Given the description of an element on the screen output the (x, y) to click on. 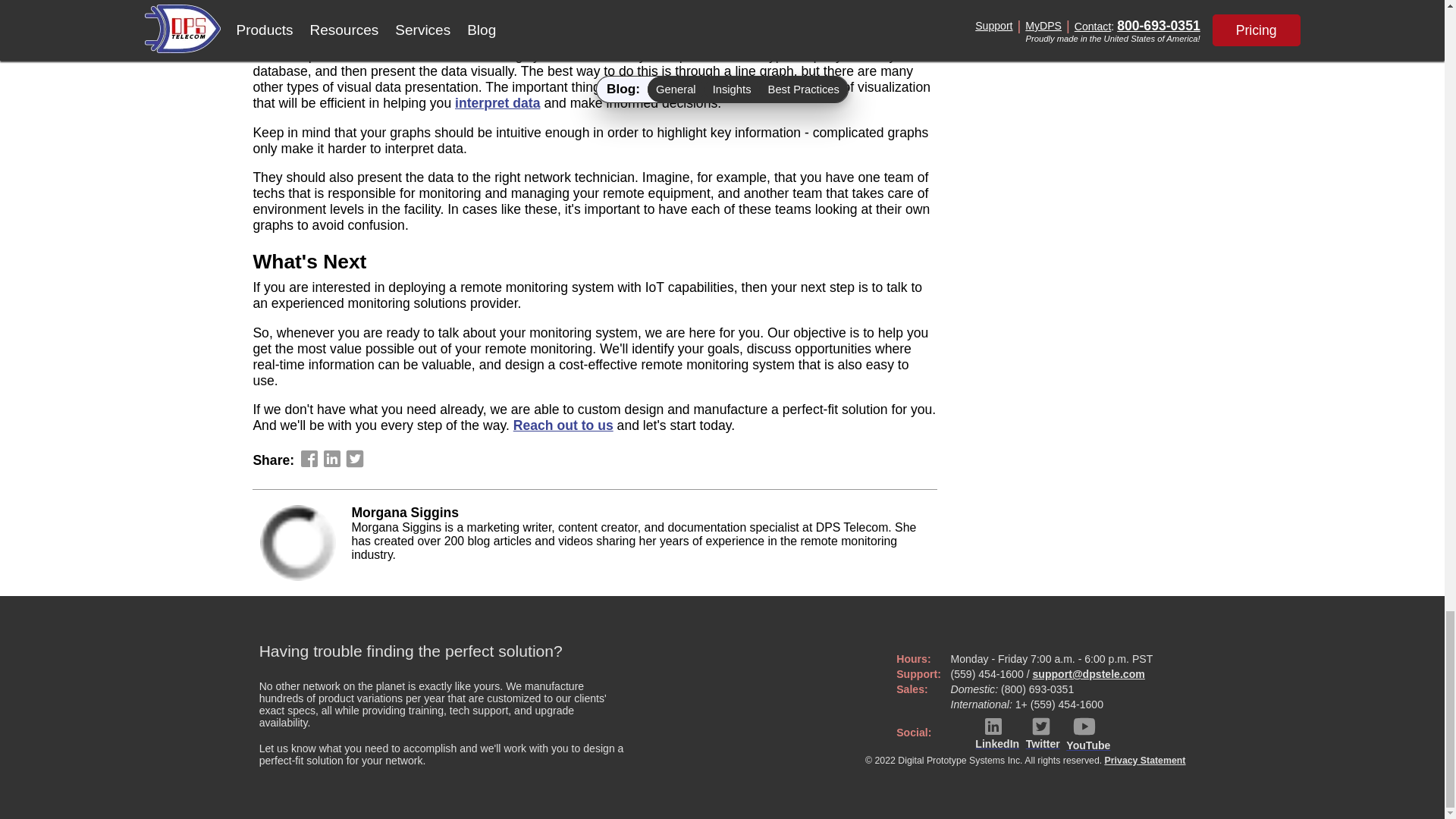
interpret data (497, 102)
Reach out to us (562, 425)
